Given the description of an element on the screen output the (x, y) to click on. 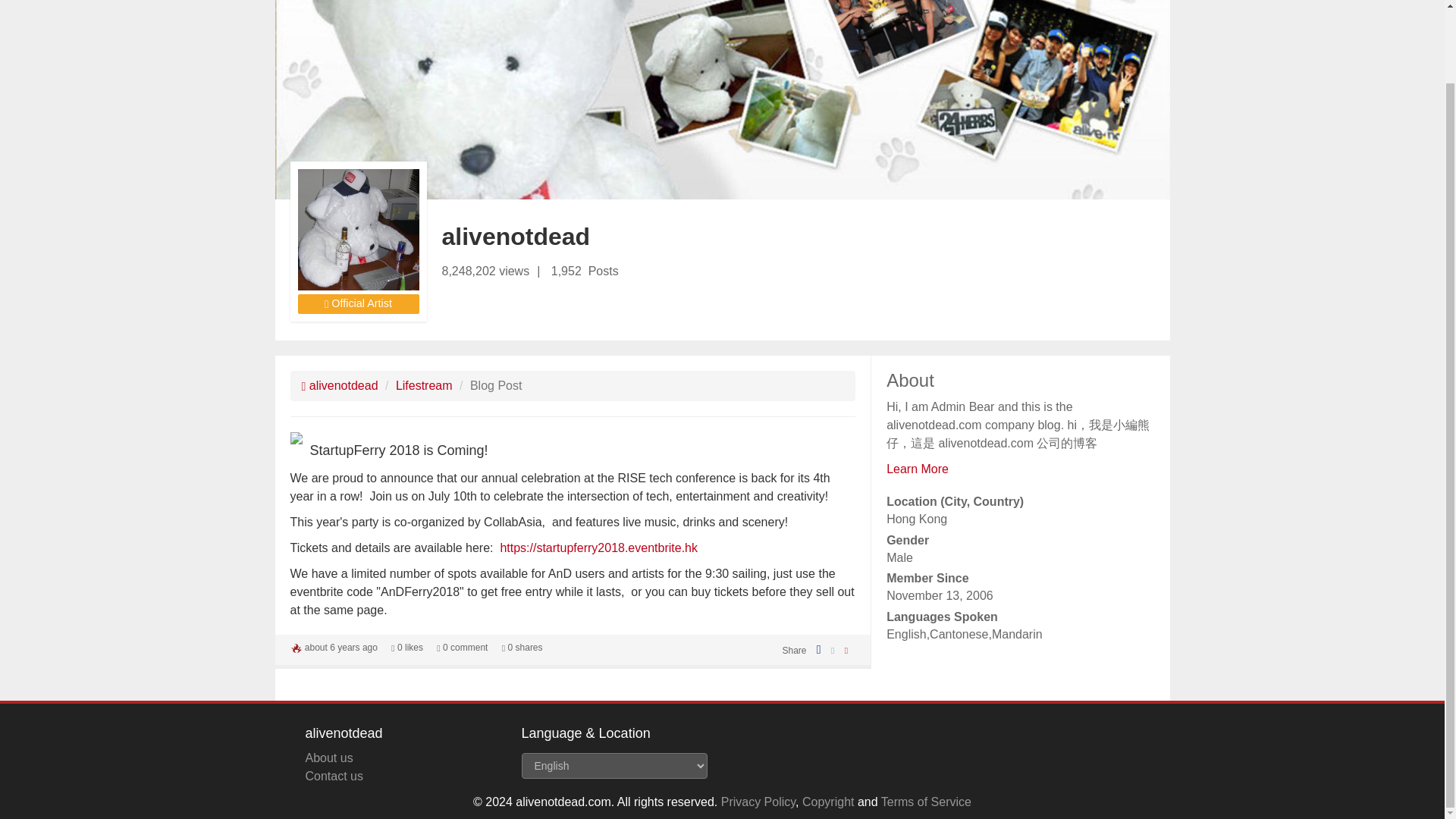
Lifestream (424, 385)
alivenotdead (339, 385)
Copyright (827, 801)
Learn More (917, 468)
about 6 years ago (340, 647)
Terms of Service (925, 801)
 0 comment (461, 647)
Contact us (333, 775)
Privacy Policy (757, 801)
About us (328, 757)
